Given the description of an element on the screen output the (x, y) to click on. 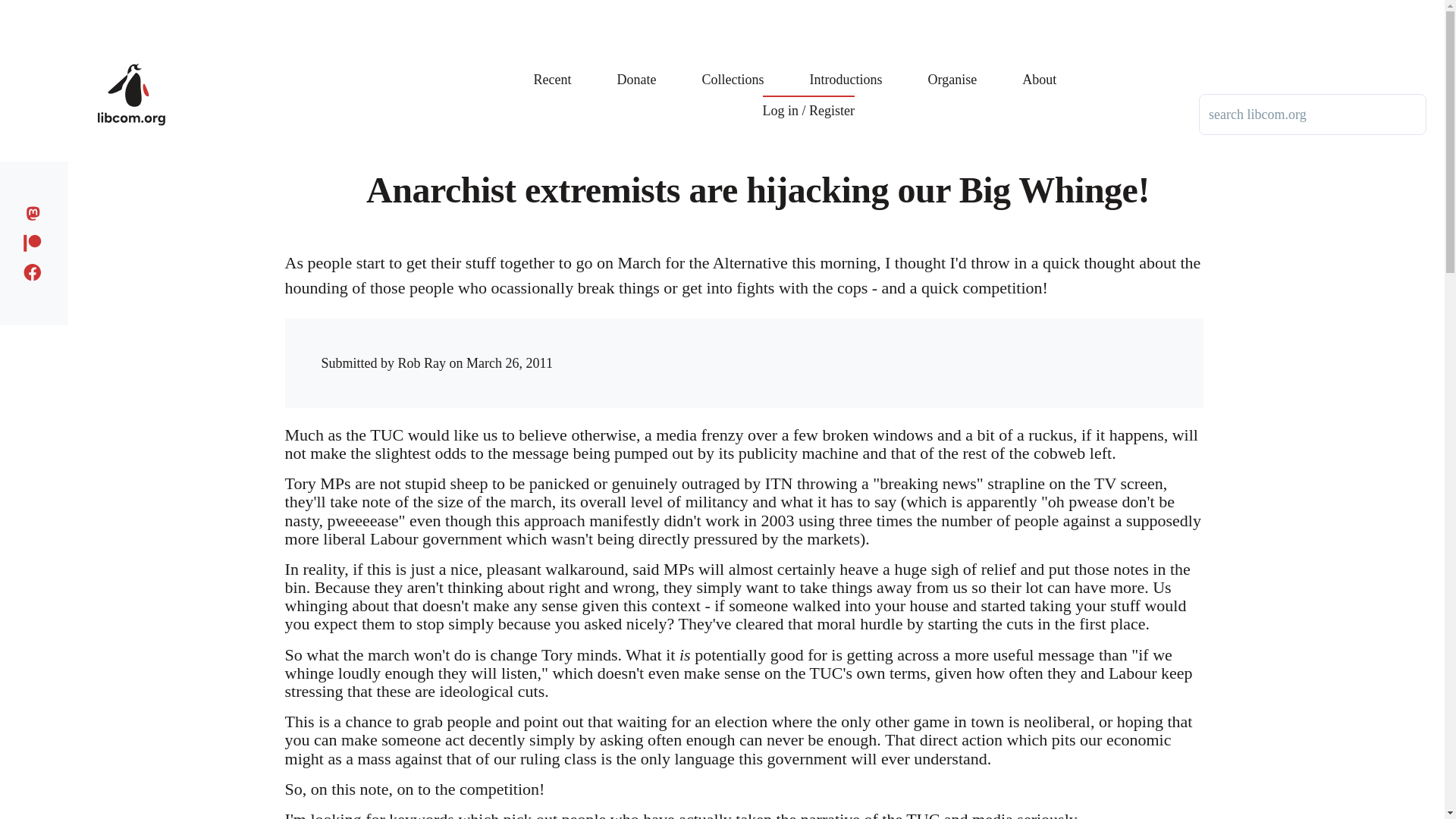
Introductions (845, 68)
Like us on facebook (36, 269)
Skip to main content (595, 6)
Follow us on Mastodon (36, 210)
Share to Reddit (975, 348)
Organise (952, 68)
Collections (732, 68)
Share to Twitter (945, 348)
Share to Facebook (914, 348)
Support us on patreon (36, 239)
